Given the description of an element on the screen output the (x, y) to click on. 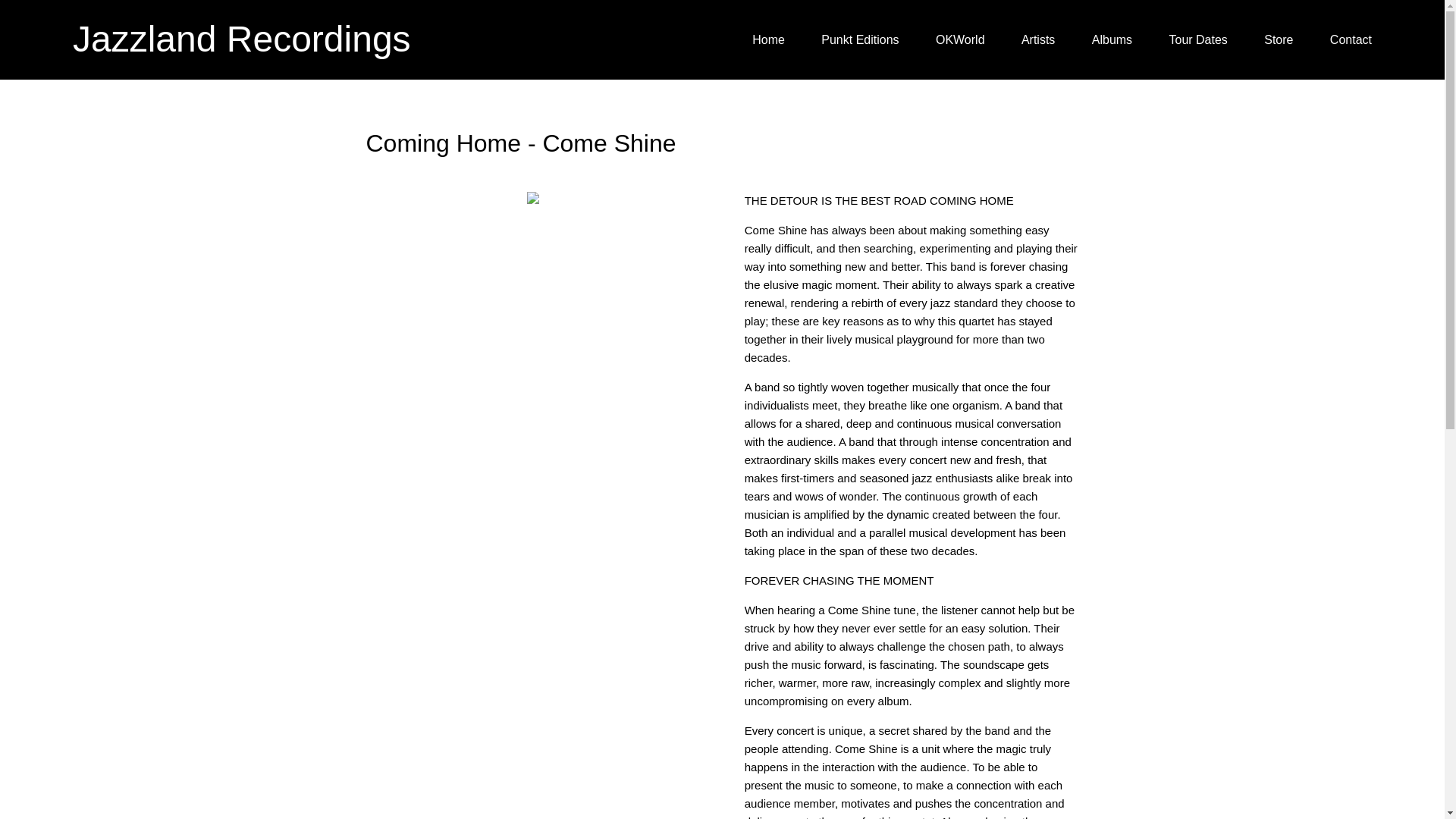
Store (1277, 40)
Home (768, 40)
Artists (1038, 40)
Tour Dates (1198, 40)
Punkt Editions (859, 40)
Albums (1112, 40)
Jazzland Recordings (241, 39)
Contact (1350, 40)
OKWorld (960, 40)
